Given the description of an element on the screen output the (x, y) to click on. 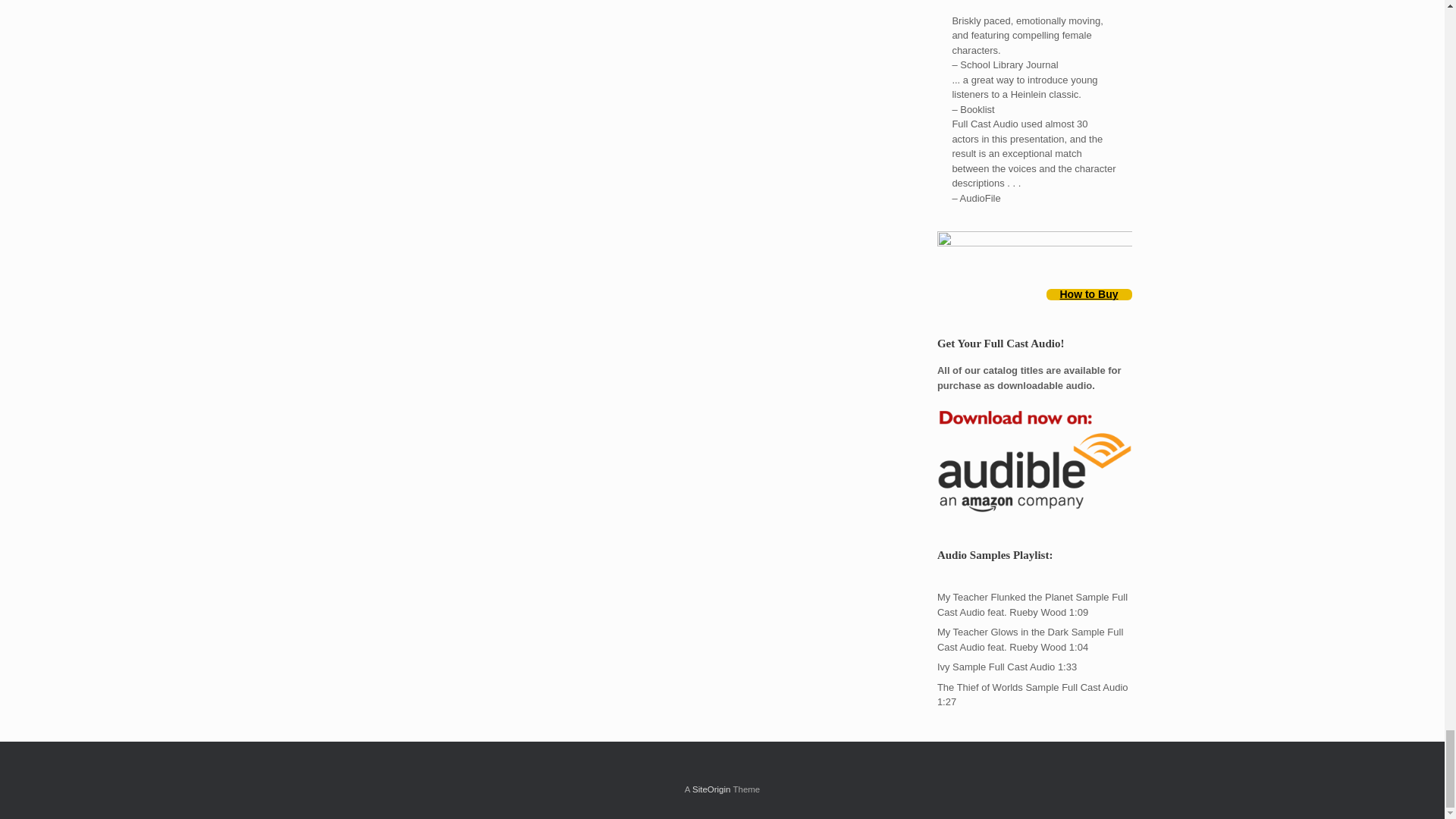
How to Buy (1089, 294)
